Given the description of an element on the screen output the (x, y) to click on. 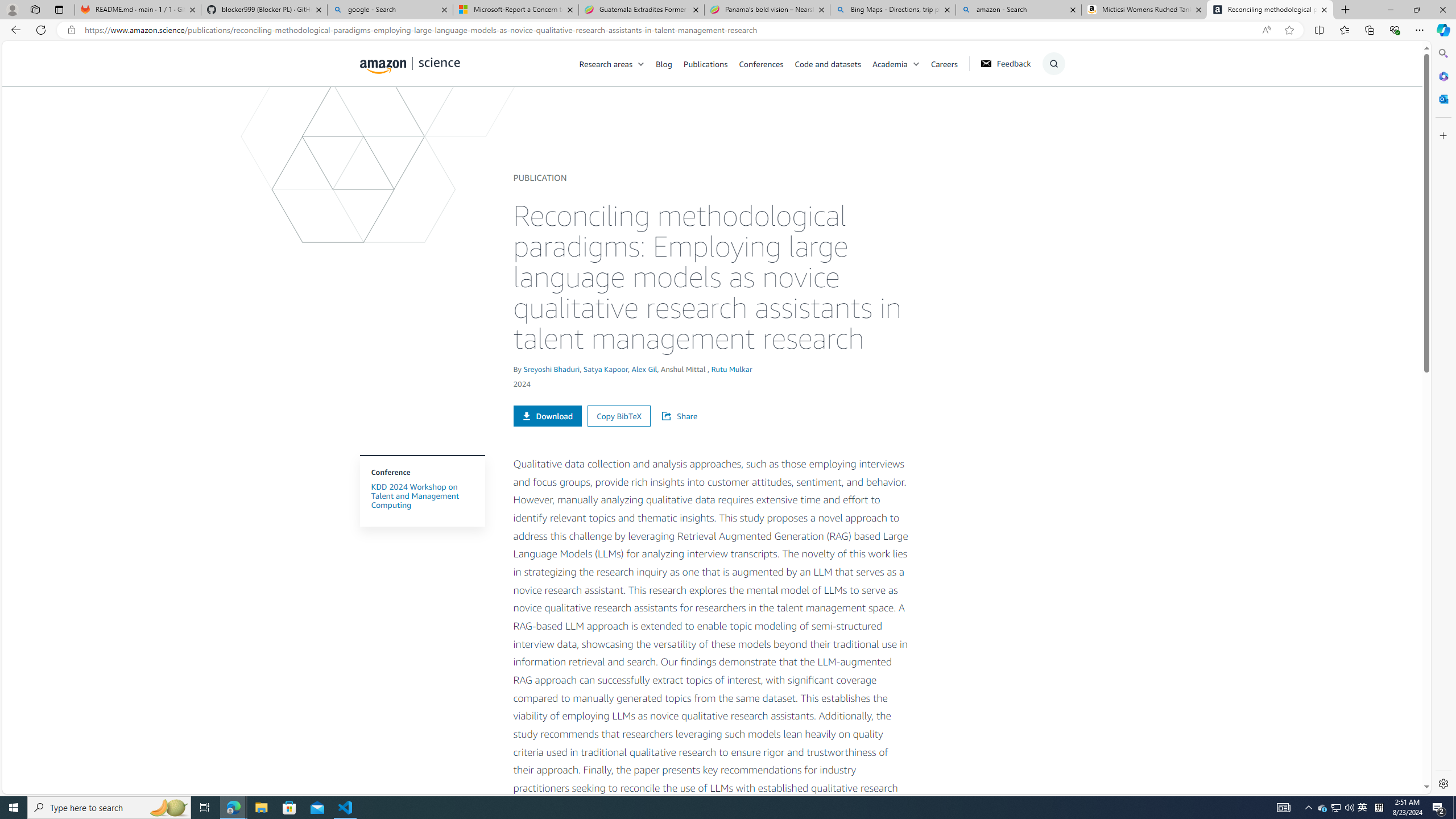
Code and datasets (827, 63)
Show Search Form (1053, 63)
Satya Kapoor (604, 368)
Sreyoshi Bhaduri (550, 368)
Careers (949, 63)
Submit Search (1049, 108)
Blog (669, 63)
